Given the description of an element on the screen output the (x, y) to click on. 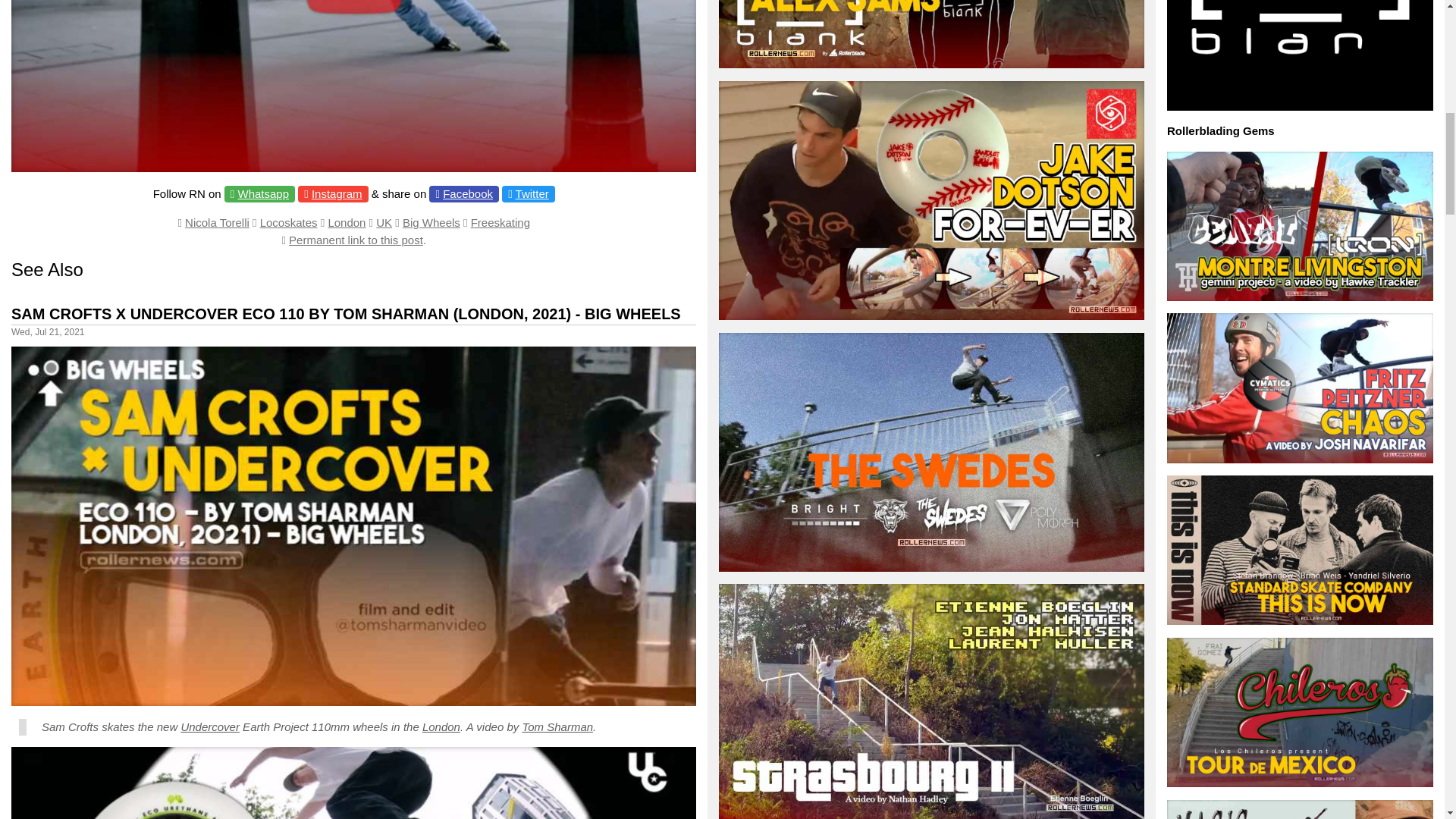
Twitter (531, 193)
Instagram (336, 193)
Rollernews Instagram (336, 193)
Permanent link to this post (355, 239)
Facebook (467, 193)
Big Wheels (431, 222)
Locoskates (288, 222)
Rollernews on Whatsapp (263, 193)
Twitter (531, 193)
Whatsapp (263, 193)
Freeskating (499, 222)
UK (383, 222)
Nicola Torelli (216, 222)
London (346, 222)
Facebook (467, 193)
